Given the description of an element on the screen output the (x, y) to click on. 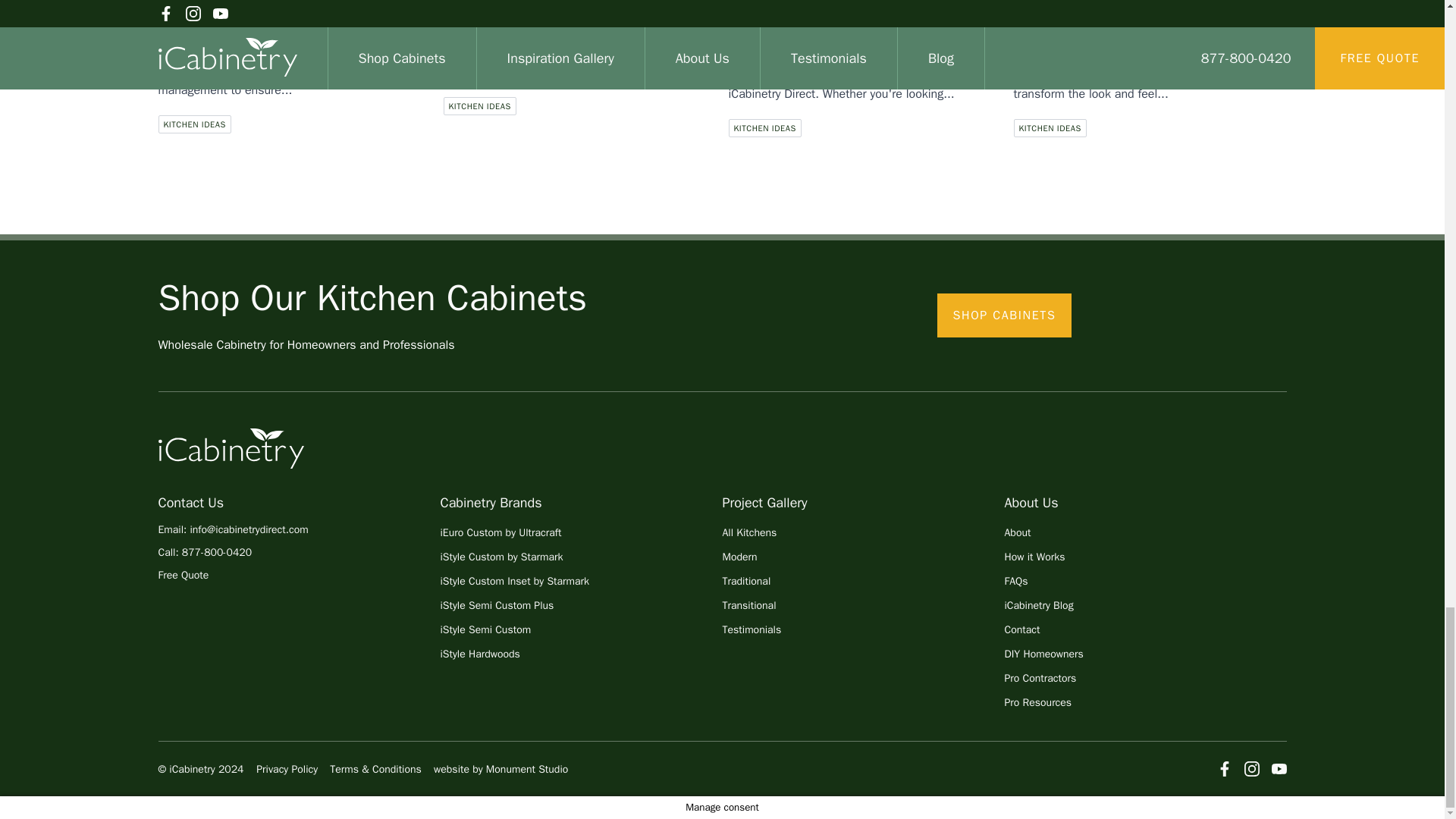
KITCHEN IDEAS (1049, 127)
Call: 877-800-0420 (298, 552)
SHOP CABINETS (1004, 315)
KITCHEN IDEAS (478, 106)
Free Quote (298, 575)
iEuro Custom by Ultracraft (499, 532)
KITCHEN IDEAS (193, 124)
KITCHEN IDEAS (764, 127)
